Given the description of an element on the screen output the (x, y) to click on. 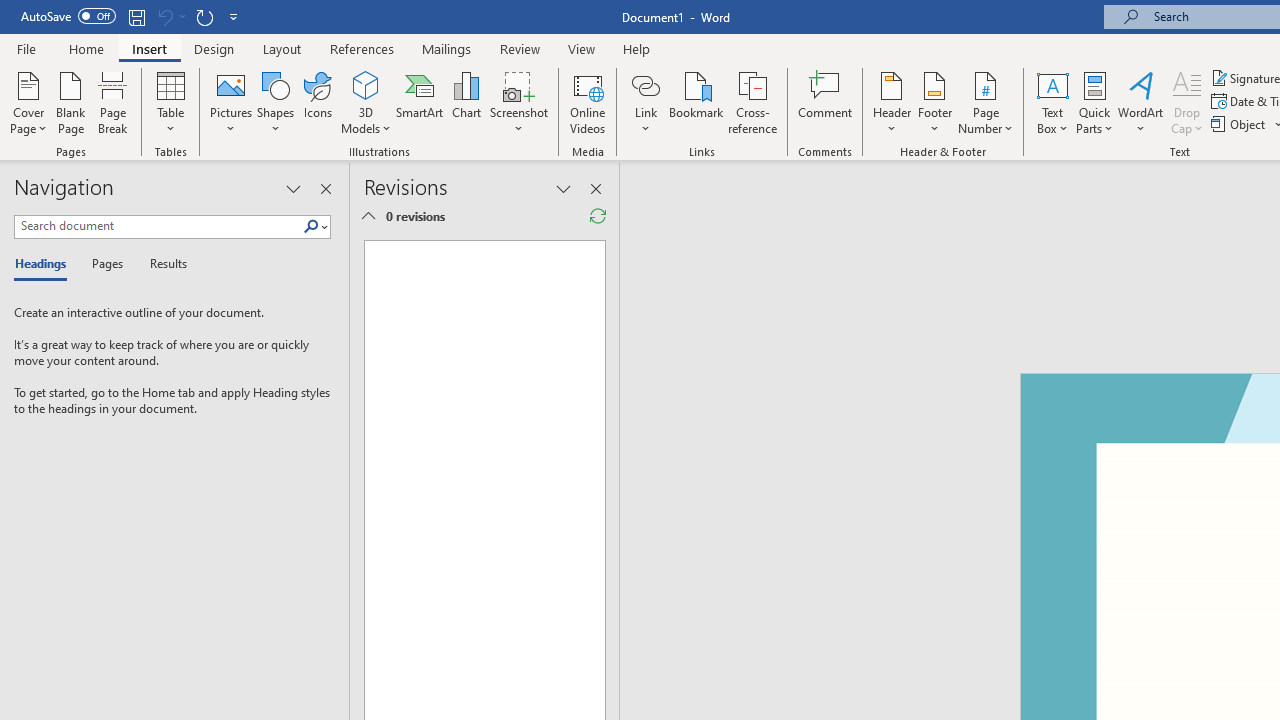
Show Detailed Summary (368, 215)
Pictures (230, 102)
Page Number (986, 102)
Online Videos... (588, 102)
Text Box (1052, 102)
Comment (825, 102)
Drop Cap (1187, 102)
